Given the description of an element on the screen output the (x, y) to click on. 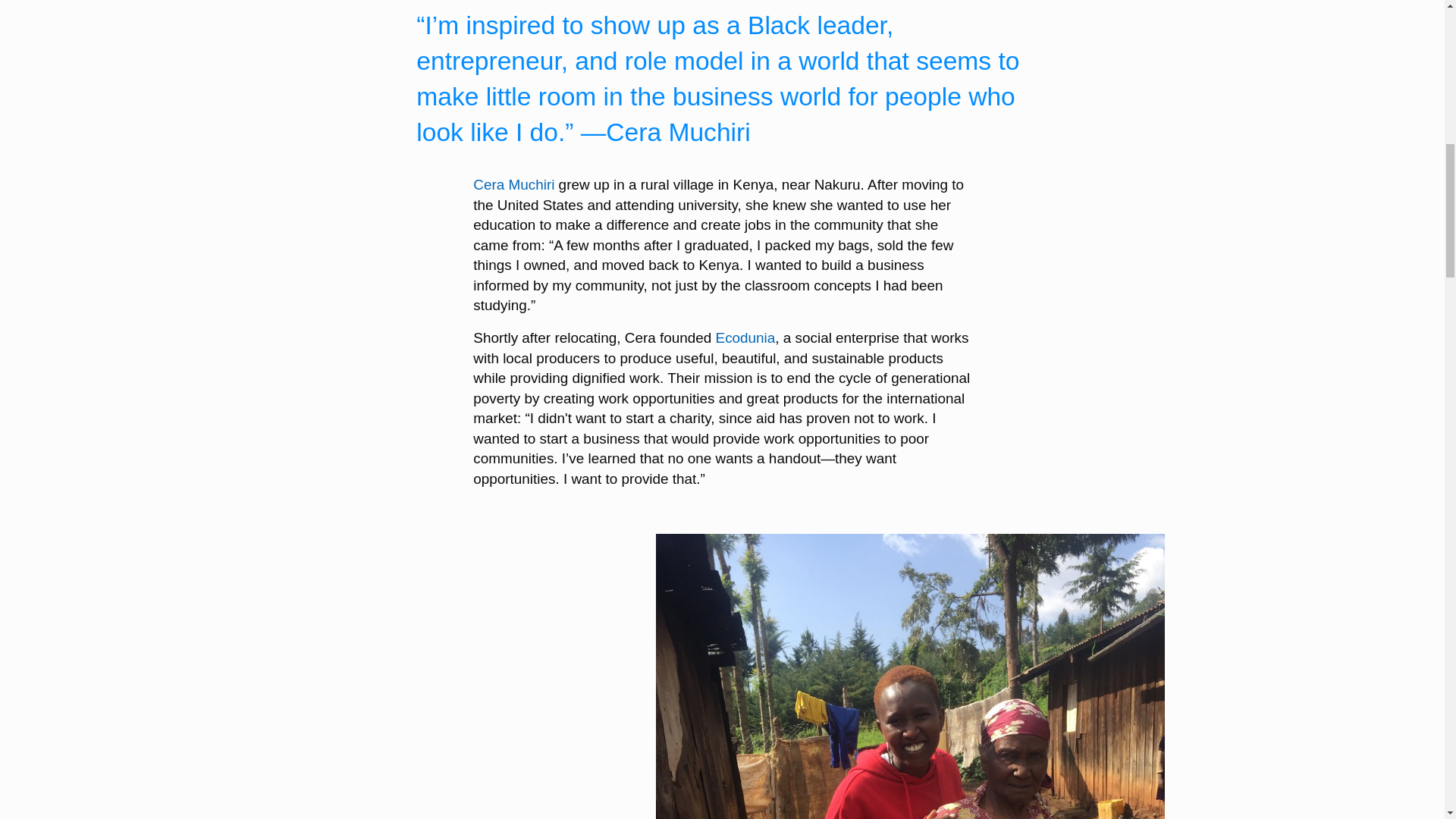
Ecodunia (746, 337)
Cera Muchiri (513, 184)
